Given the description of an element on the screen output the (x, y) to click on. 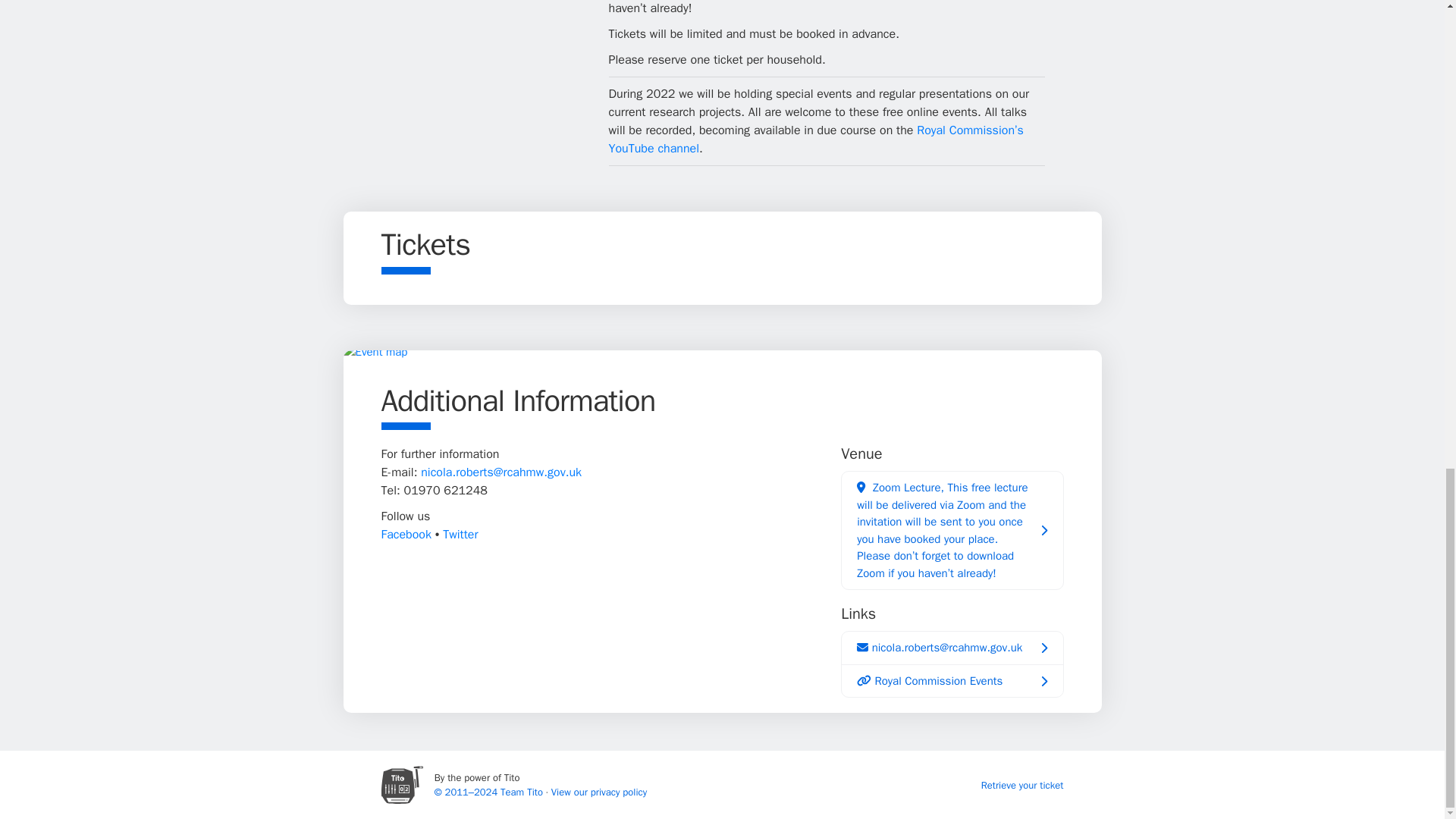
Facebook (405, 534)
Twitter (459, 534)
View our privacy policy (598, 791)
Twitter (459, 534)
Facebook (405, 534)
Retrieve your ticket (1022, 784)
Royal Commission Events (951, 681)
